Given the description of an element on the screen output the (x, y) to click on. 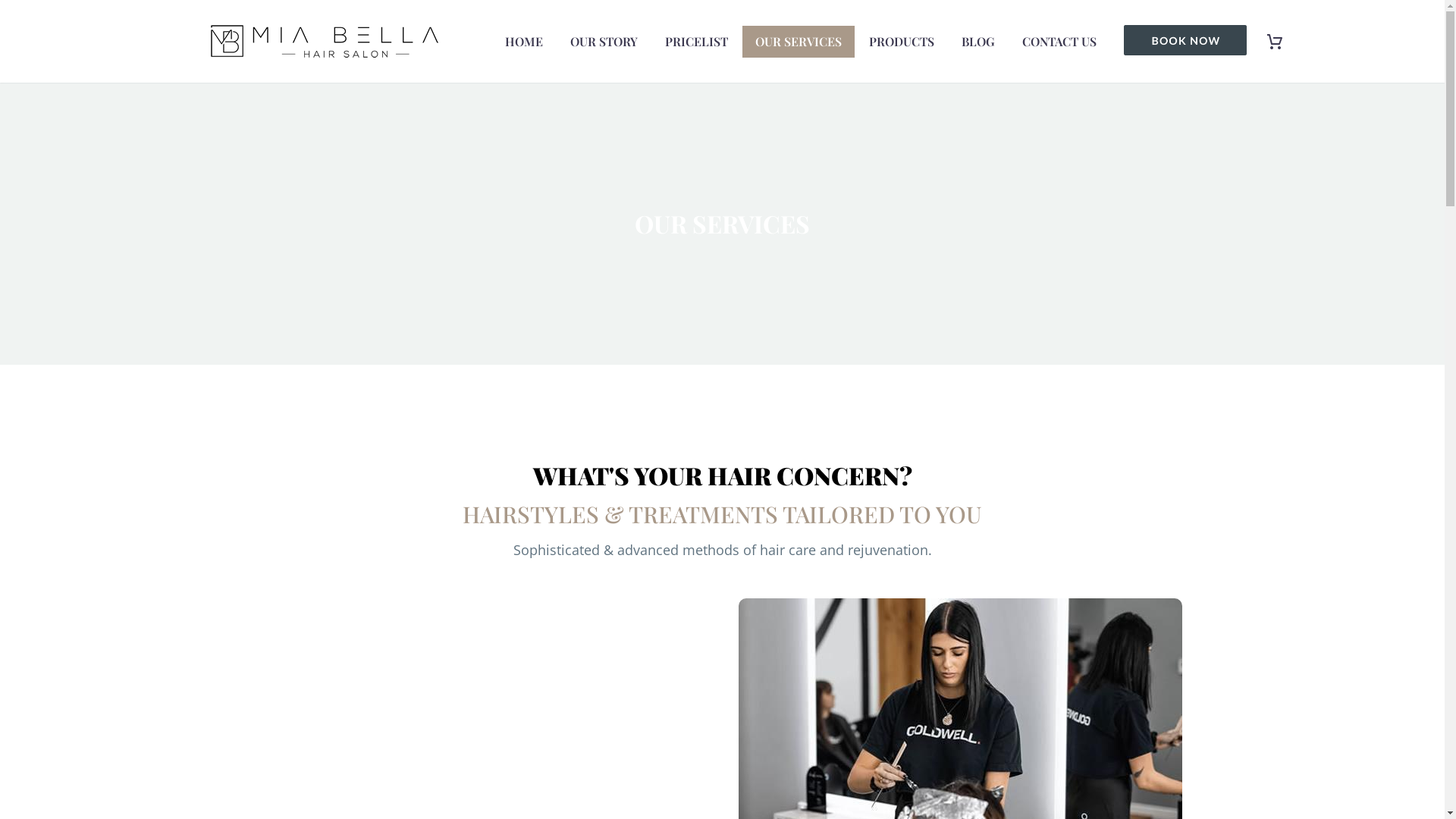
PRICELIST Element type: text (696, 41)
BLOG Element type: text (977, 41)
HOME Element type: text (522, 41)
OUR SERVICES Element type: text (797, 41)
PRODUCTS Element type: text (900, 41)
OUR STORY Element type: text (603, 41)
CONTACT US Element type: text (1058, 41)
